Given the description of an element on the screen output the (x, y) to click on. 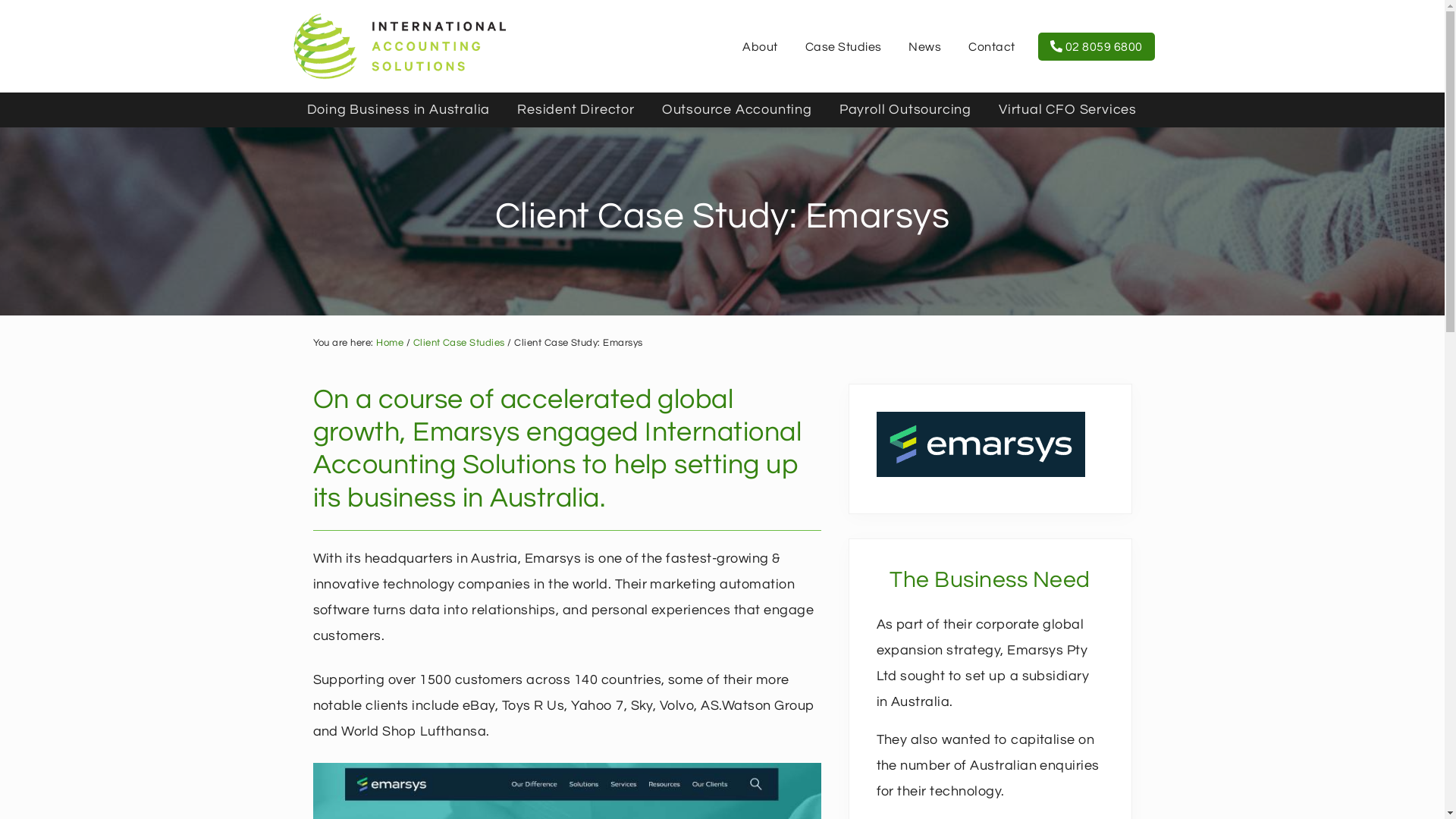
About Element type: text (759, 46)
Home Element type: text (389, 343)
Resident Director Element type: text (575, 109)
Skip to right header navigation Element type: text (0, 0)
Outsource Accounting Element type: text (736, 109)
Virtual CFO Services Element type: text (1067, 109)
Payroll Outsourcing Element type: text (905, 109)
Case Studies Element type: text (843, 46)
News Element type: text (924, 46)
Client Case Studies Element type: text (459, 343)
02 8059 6800 Element type: text (1096, 46)
Doing Business in Australia Element type: text (397, 109)
Contact Element type: text (991, 46)
